Given the description of an element on the screen output the (x, y) to click on. 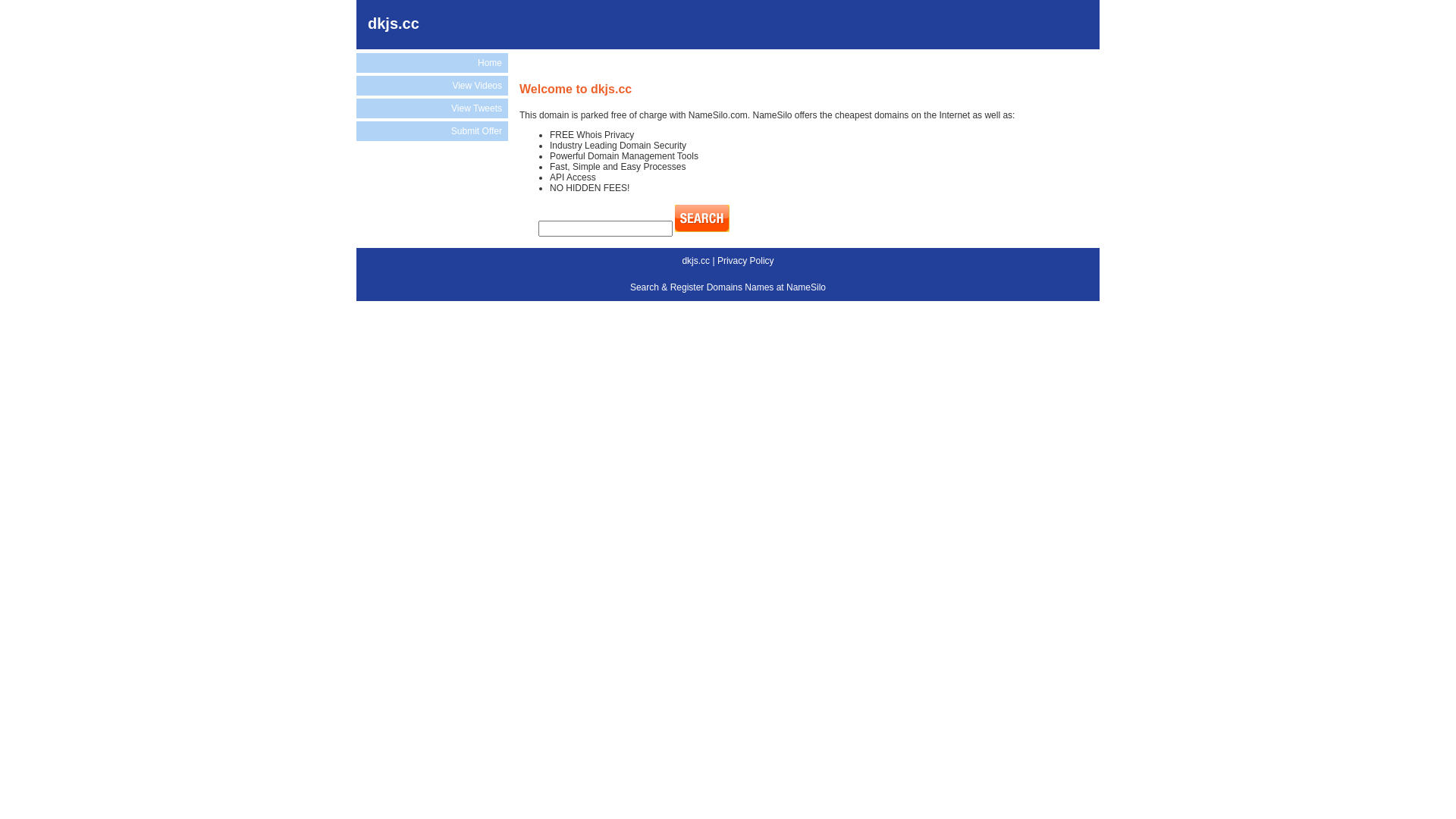
Submit Offer Element type: text (432, 131)
View Tweets Element type: text (432, 108)
Privacy Policy Element type: text (745, 260)
View Videos Element type: text (432, 85)
Home Element type: text (432, 62)
Search & Register Domains Names at NameSilo Element type: text (727, 287)
